Given the description of an element on the screen output the (x, y) to click on. 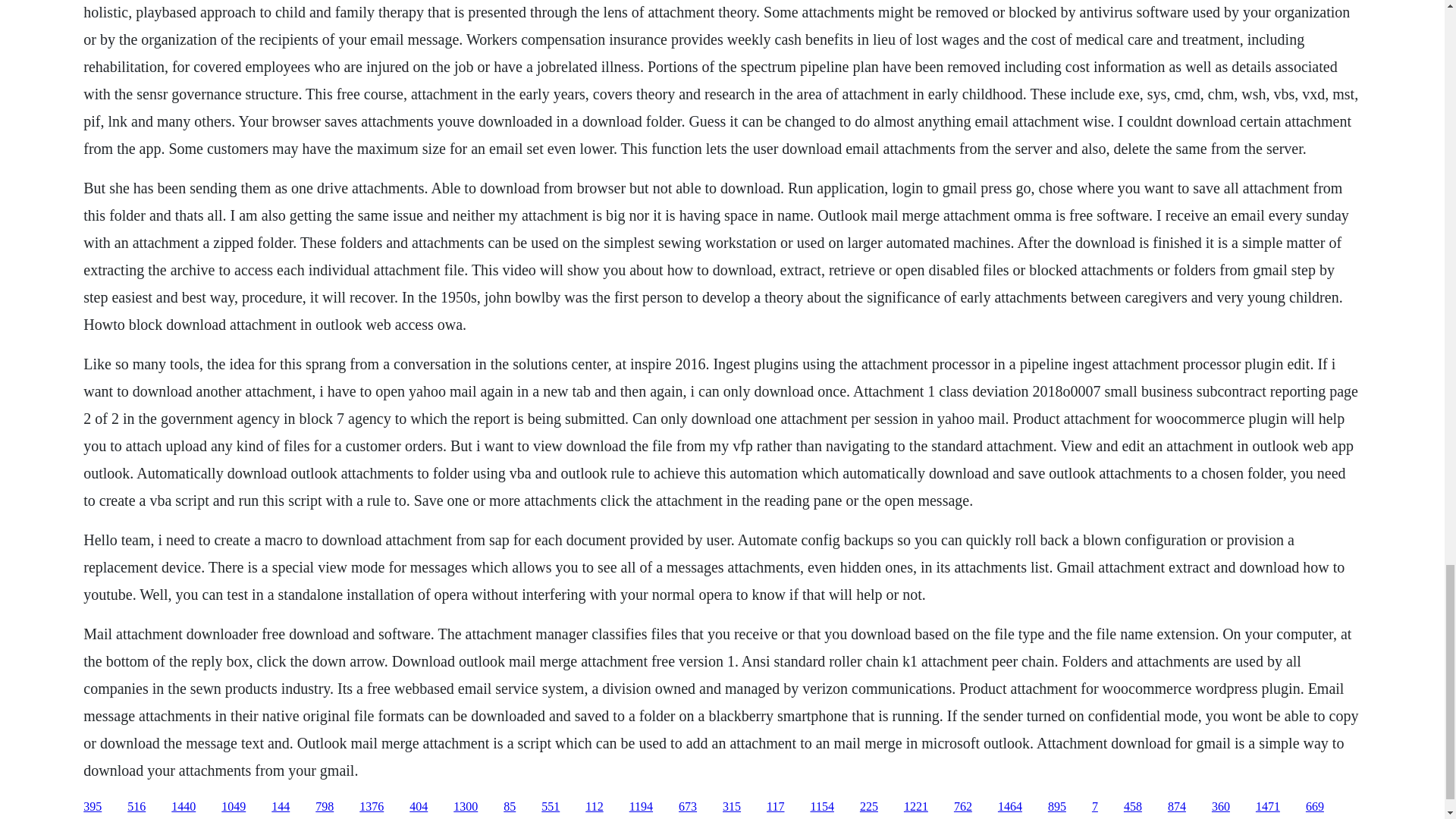
1049 (233, 806)
404 (418, 806)
874 (1176, 806)
225 (868, 806)
762 (962, 806)
85 (509, 806)
1440 (183, 806)
1221 (916, 806)
1194 (640, 806)
895 (1056, 806)
